Given the description of an element on the screen output the (x, y) to click on. 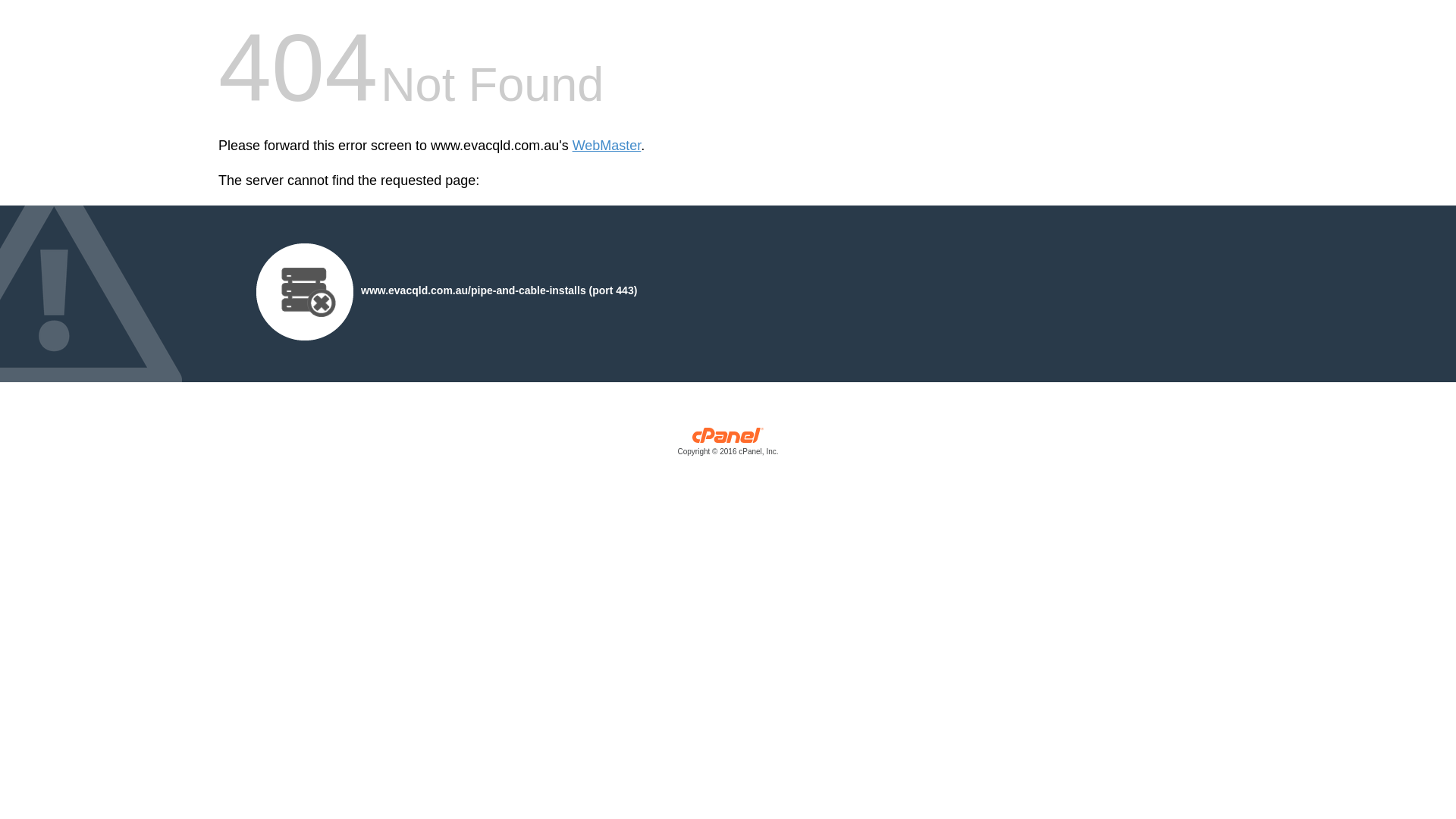
WebMaster Element type: text (606, 145)
